Given the description of an element on the screen output the (x, y) to click on. 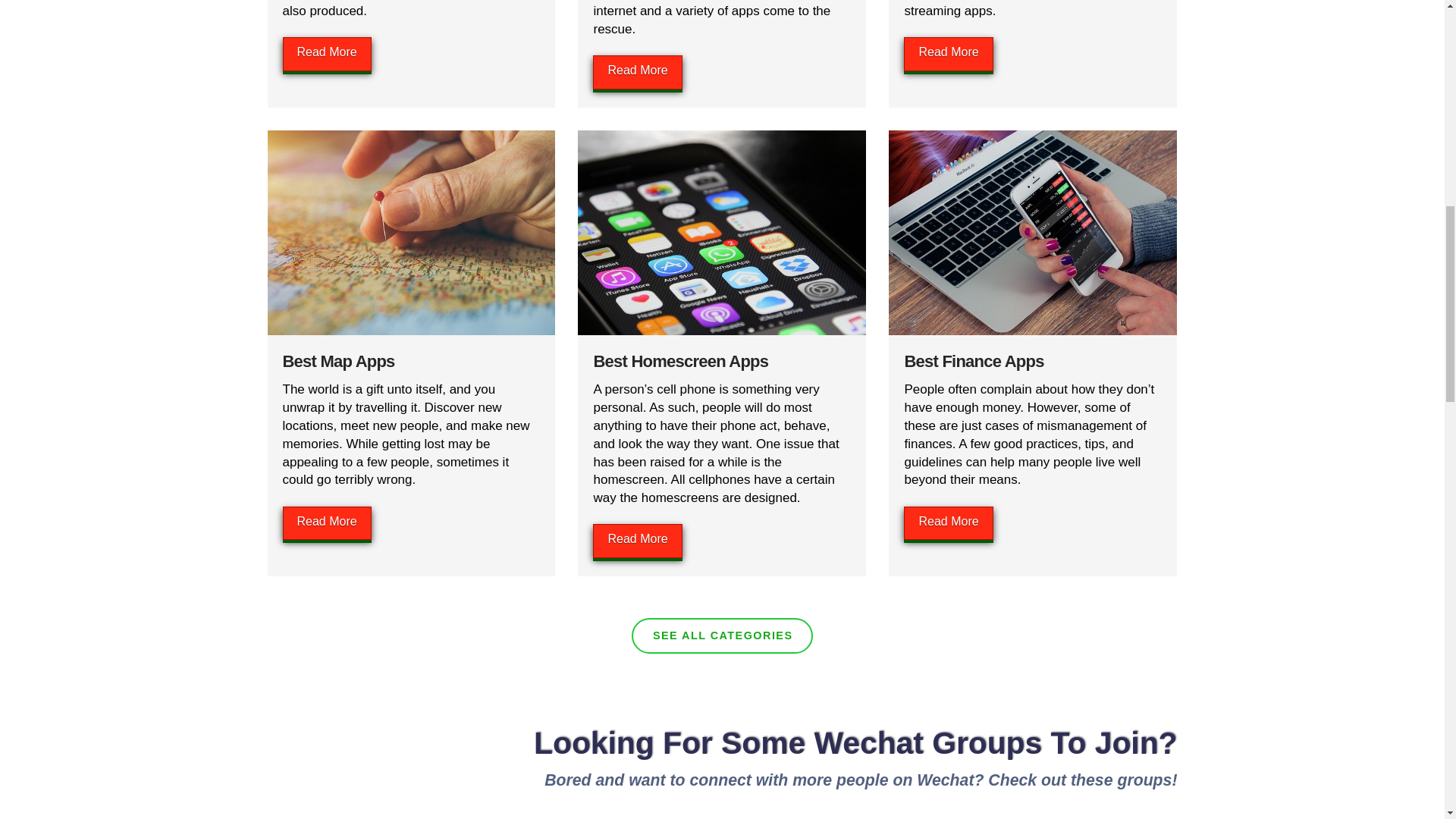
Read More (636, 72)
Read More (326, 523)
Best Homescreen Apps (680, 361)
Read More (948, 53)
Read More (636, 540)
Best Map Apps (338, 361)
SEE ALL CATEGORIES (721, 635)
Read More (948, 523)
Best Finance Apps (973, 361)
Read More (326, 53)
